Given the description of an element on the screen output the (x, y) to click on. 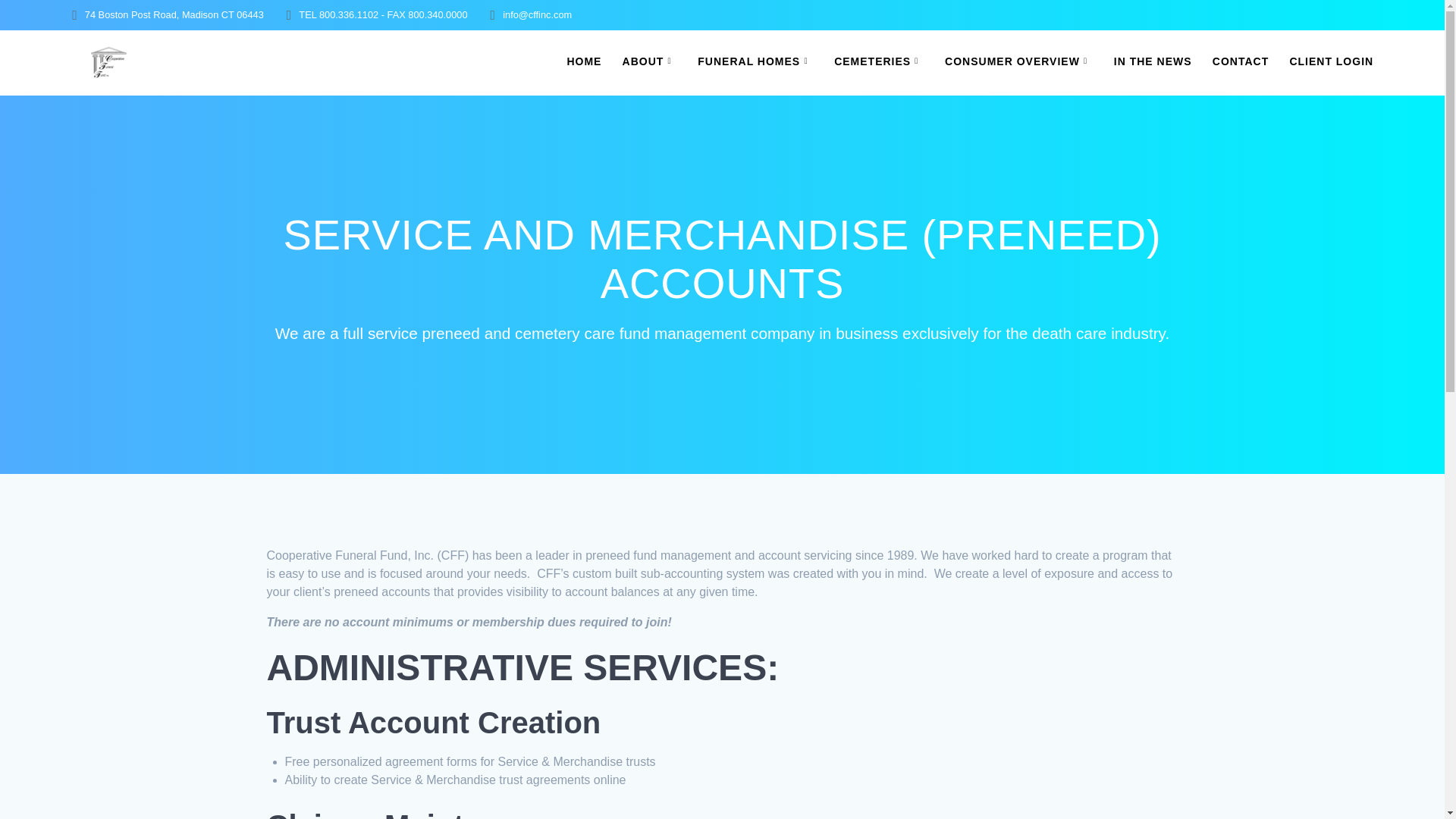
CONTACT (1240, 62)
CEMETERIES (879, 62)
CLIENT LOGIN (1330, 62)
HOME (583, 62)
IN THE NEWS (1152, 62)
CONSUMER OVERVIEW (1018, 62)
ABOUT (650, 62)
FUNERAL HOMES (755, 62)
